Given the description of an element on the screen output the (x, y) to click on. 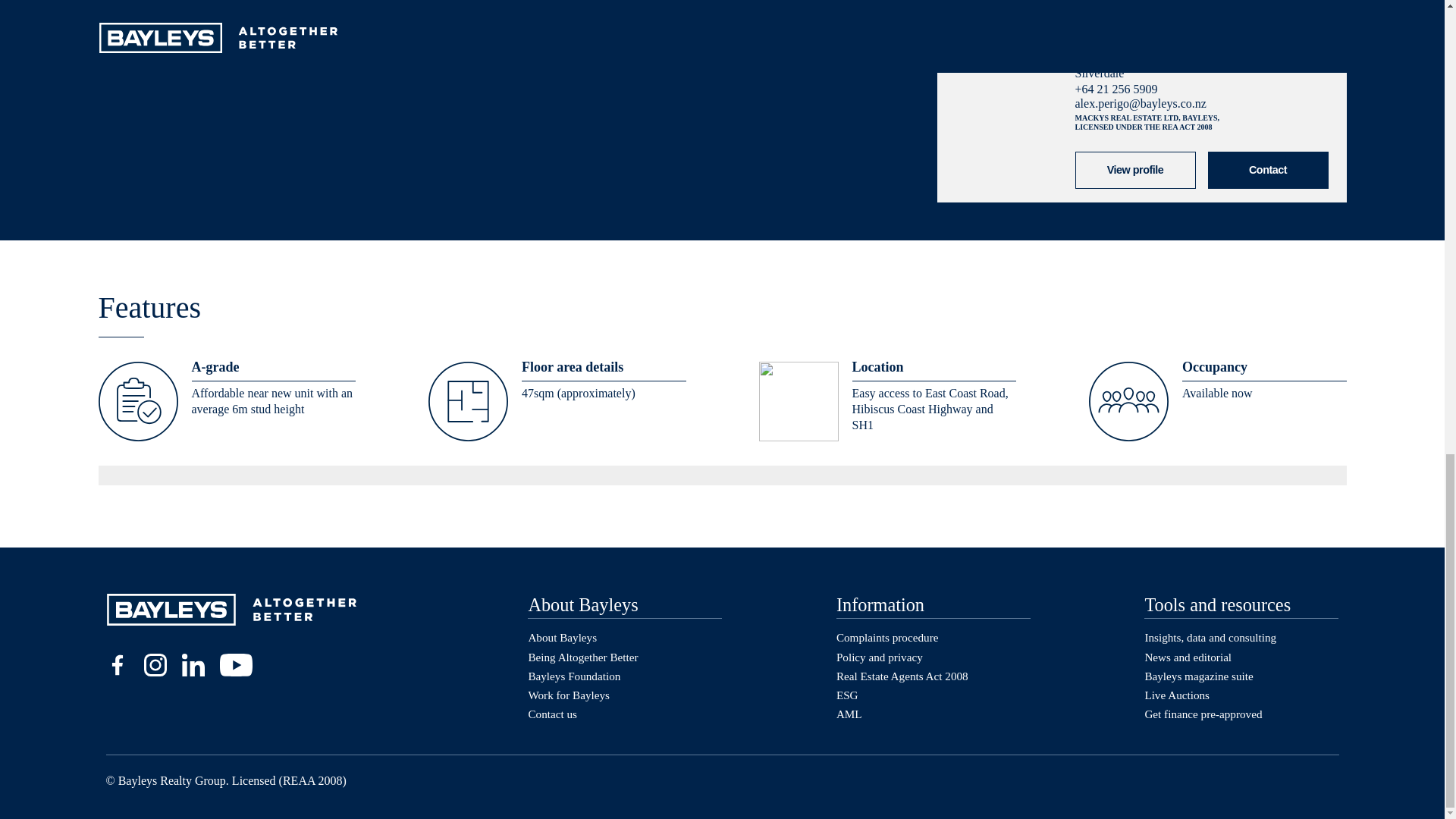
AML (848, 713)
Work for Bayleys (568, 694)
Bayleys Foundation (573, 675)
Being Altogether Better (582, 656)
Silverdale (1099, 72)
Complaints procedure (887, 636)
ESG (847, 694)
News and editorial (1187, 656)
View profile (1135, 169)
Contact (1267, 170)
